Given the description of an element on the screen output the (x, y) to click on. 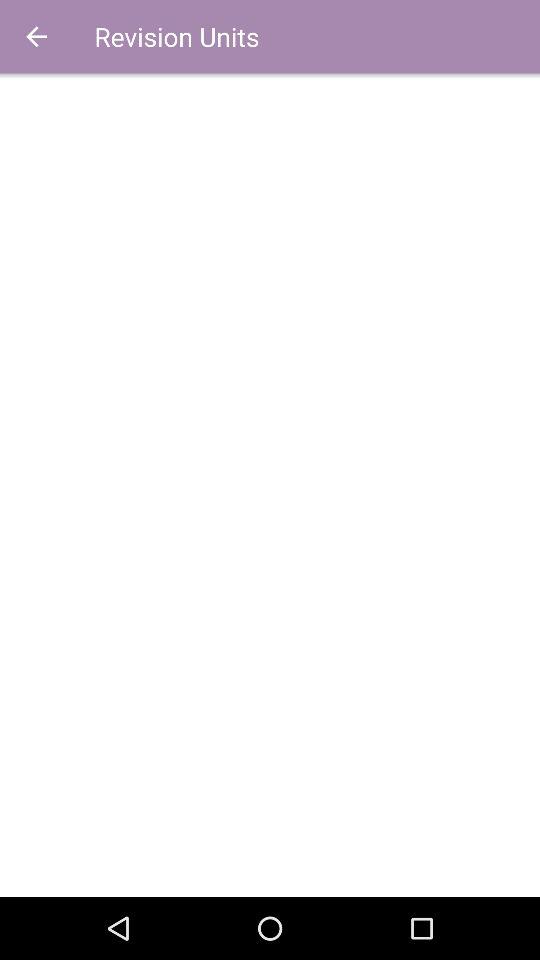
open icon below the revision units icon (270, 484)
